Given the description of an element on the screen output the (x, y) to click on. 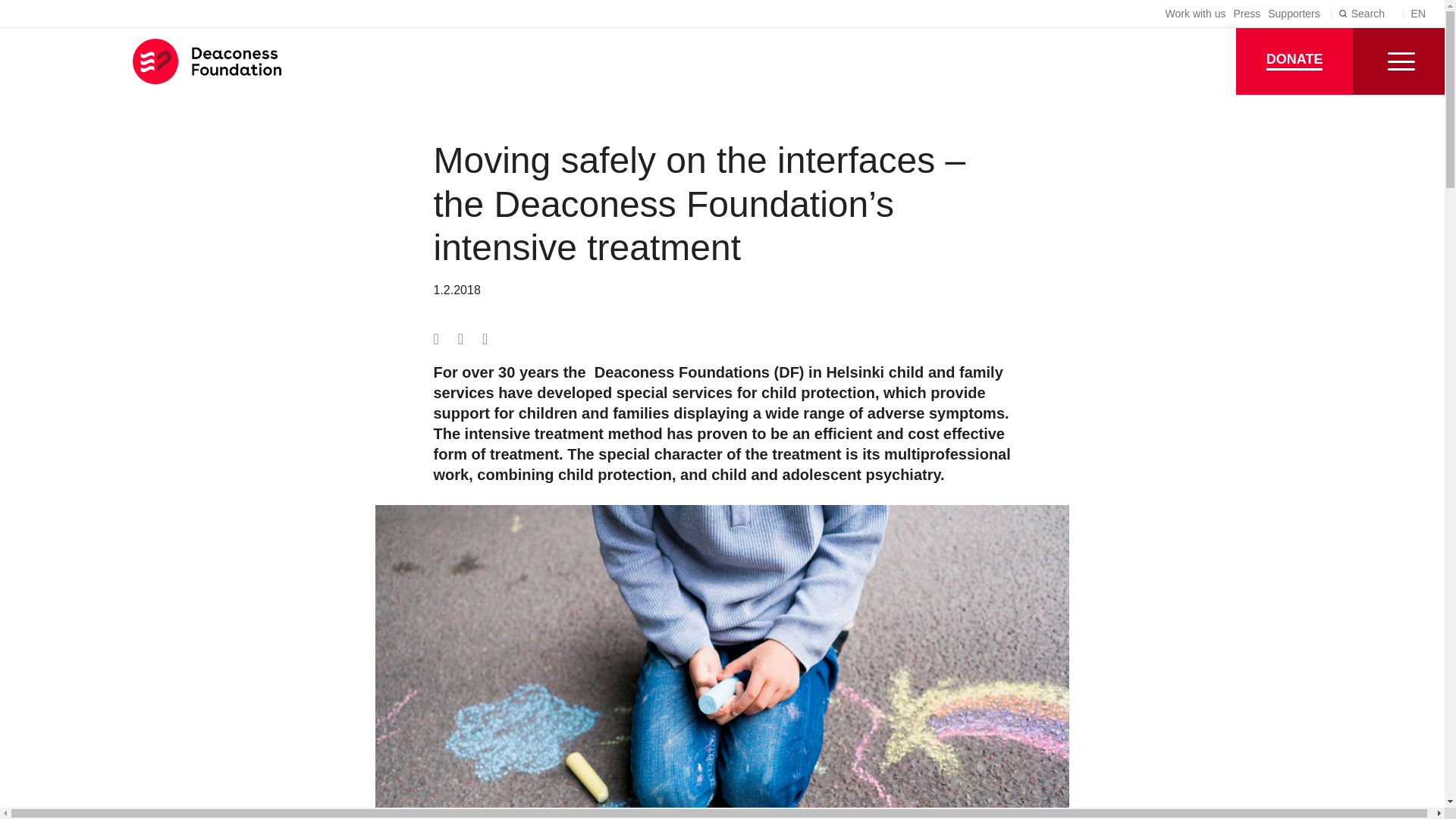
Diakonissalaitos (215, 61)
DONATE (1295, 61)
Diakonissalaitos (215, 61)
Supporters (1293, 13)
Work with us (1195, 13)
Press (1246, 13)
